Given the description of an element on the screen output the (x, y) to click on. 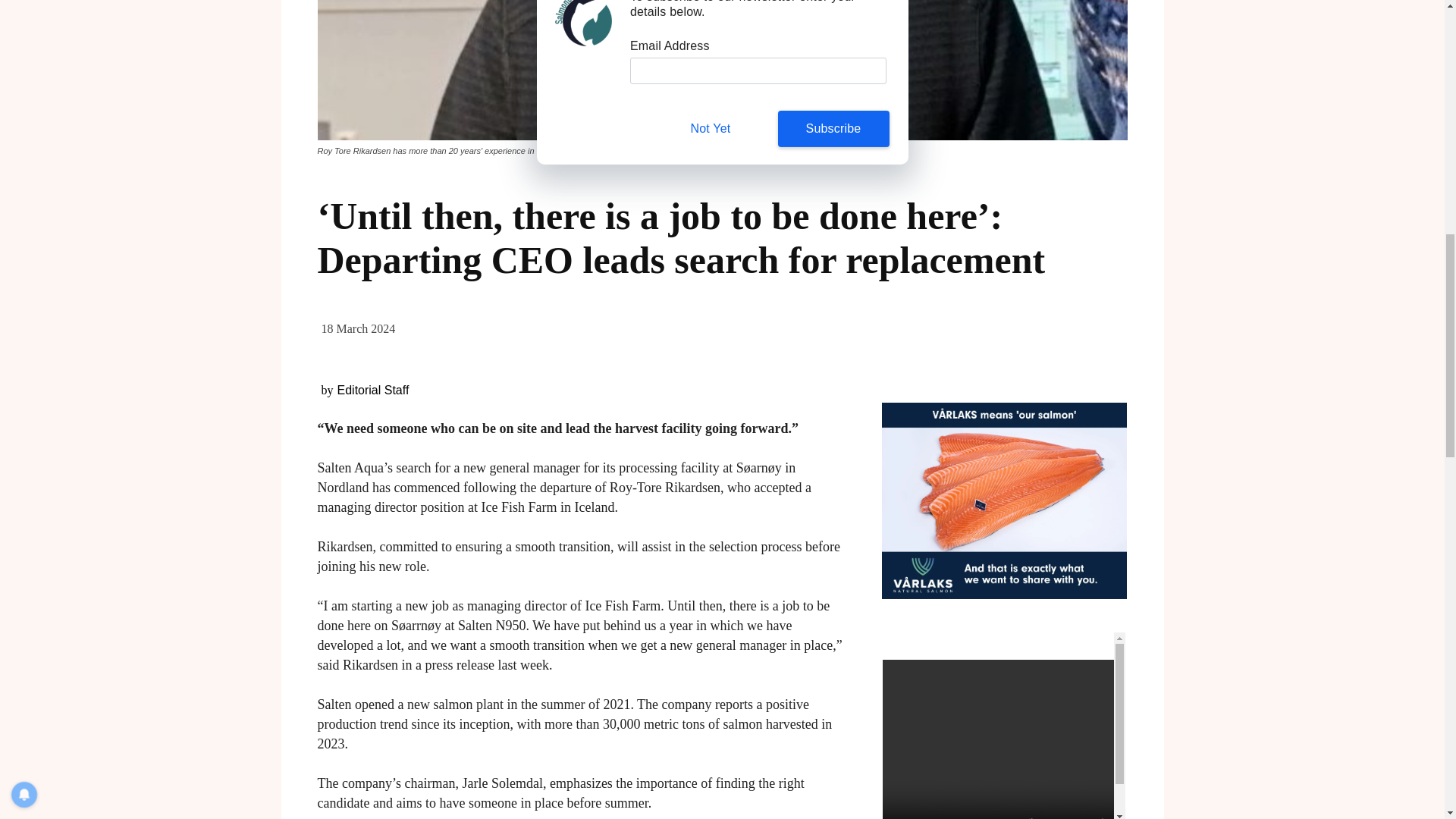
c98fe1ca87ac52d2970330c0091dbe4f (721, 70)
